Given the description of an element on the screen output the (x, y) to click on. 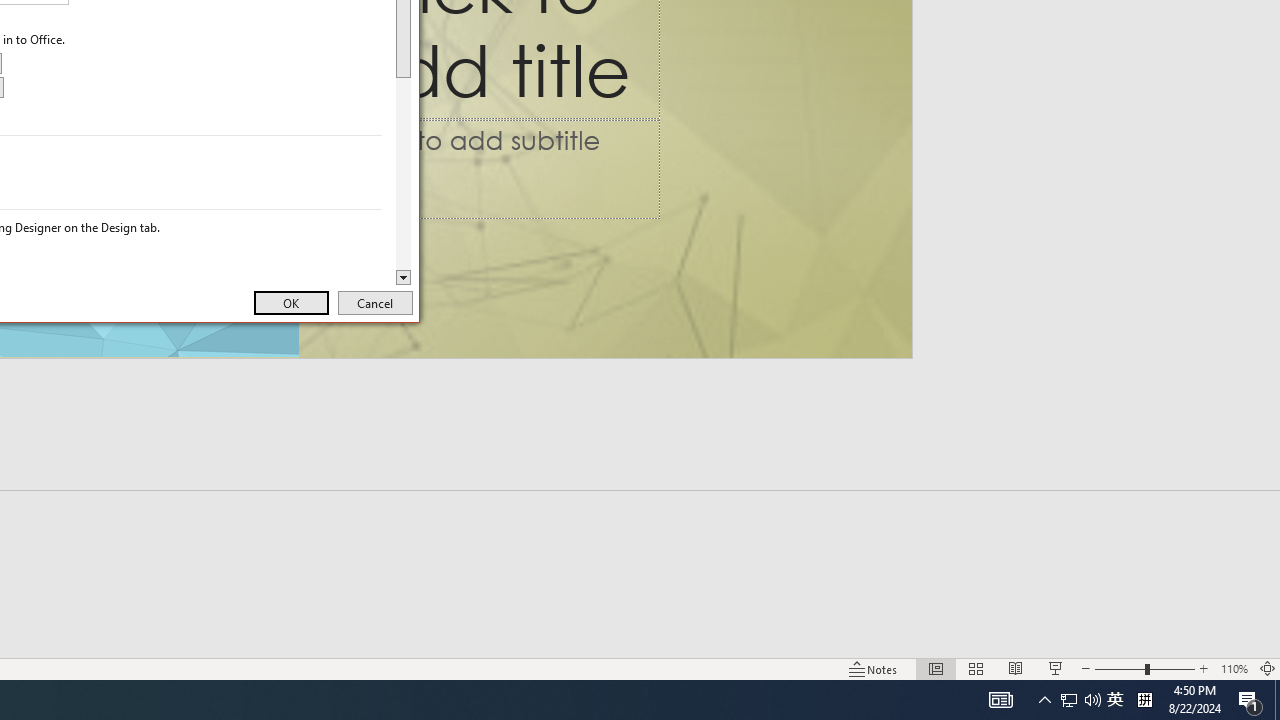
Page down (403, 173)
Action Center, 1 new notification (1250, 699)
Tray Input Indicator - Chinese (Simplified, China) (1069, 699)
User Promoted Notification Area (1144, 699)
OK (1080, 699)
AutomationID: 4105 (290, 302)
Q2790: 100% (1000, 699)
Zoom 110% (1092, 699)
Cancel (1234, 668)
